Given the description of an element on the screen output the (x, y) to click on. 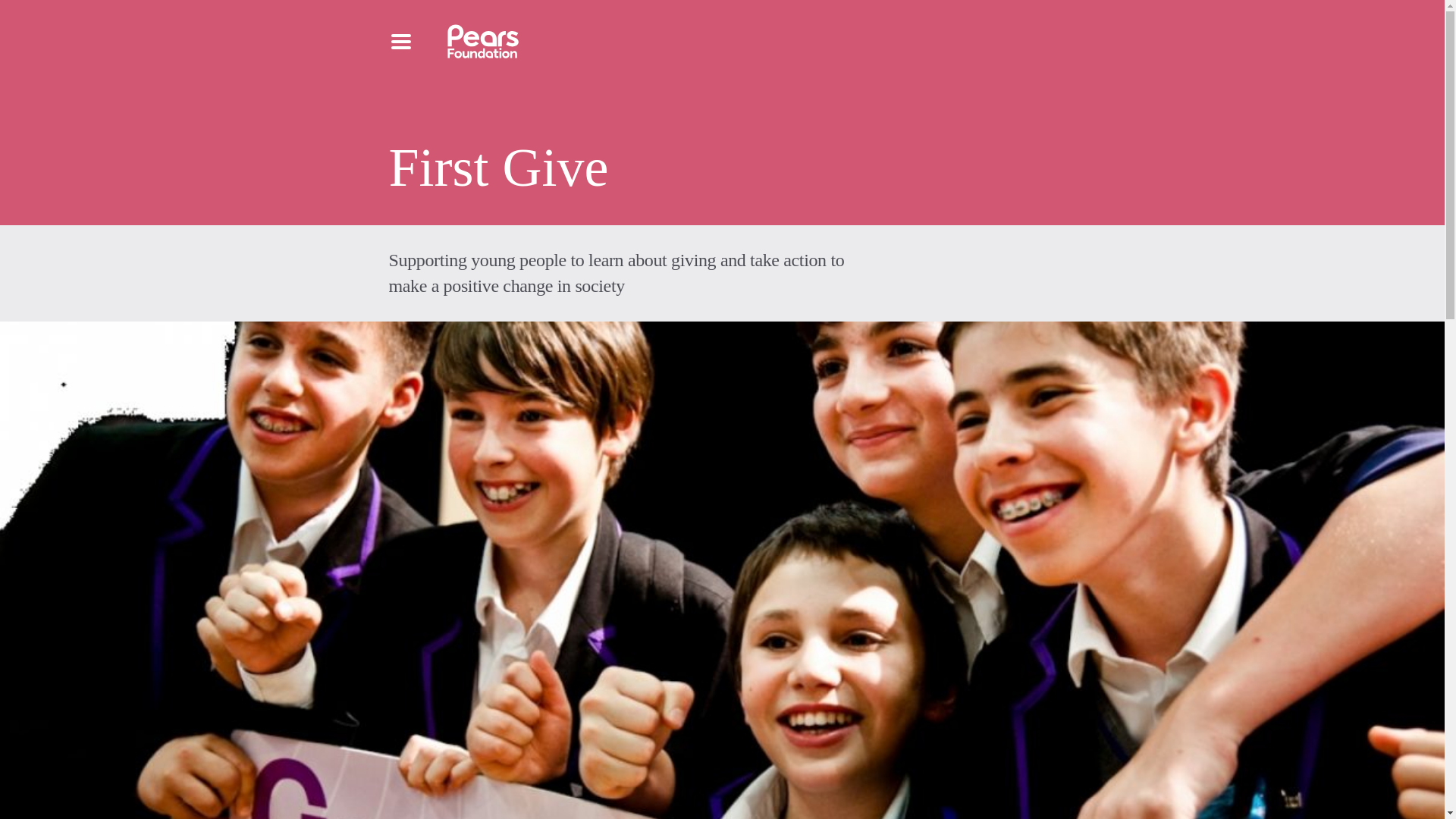
Pears Foundation (482, 41)
Search (440, 121)
